Given the description of an element on the screen output the (x, y) to click on. 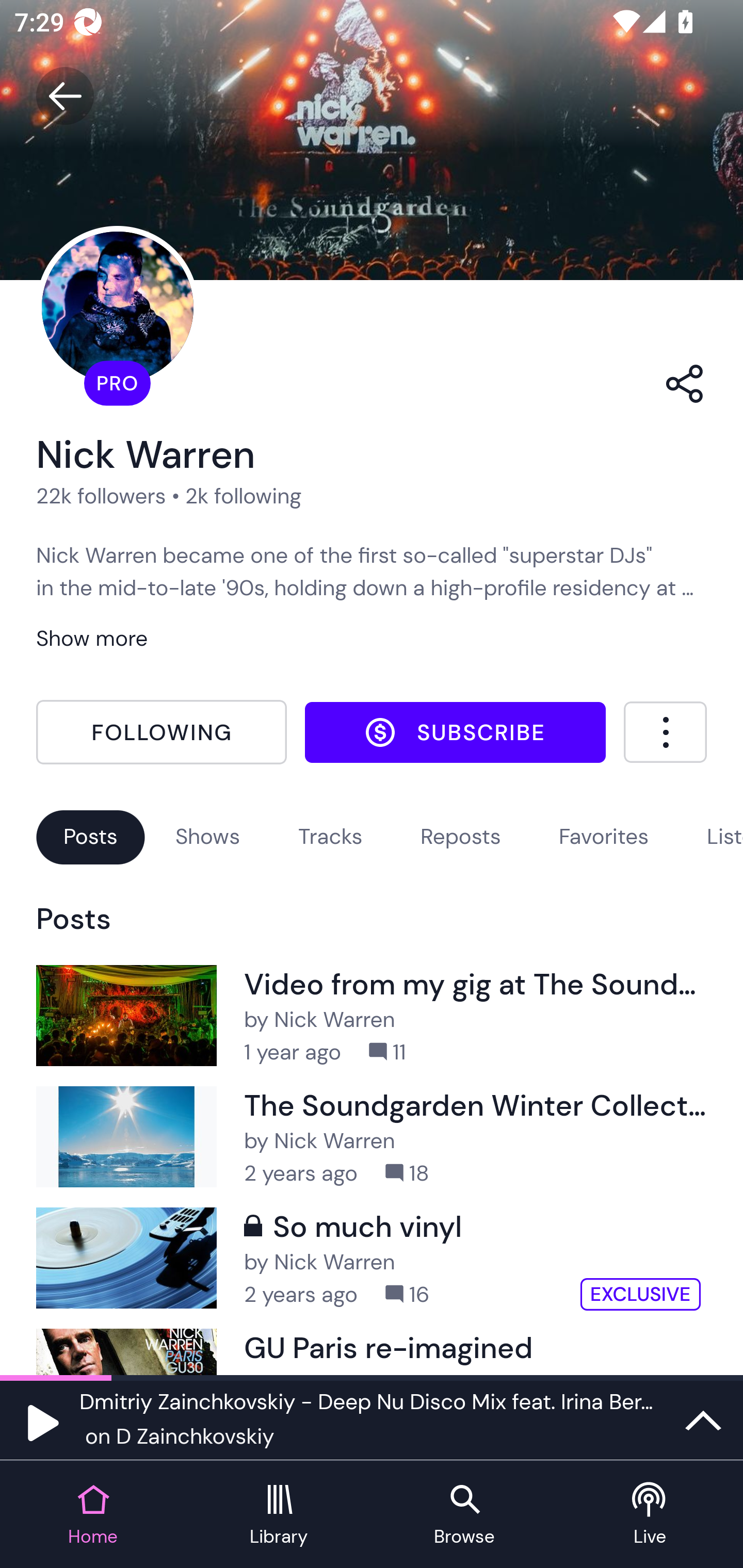
22k followers (101, 495)
2k following (243, 495)
Following FOLLOWING (161, 732)
More Menu (665, 731)
Subscribe SUBSCRIBE (454, 732)
Posts (90, 836)
Shows (207, 836)
Tracks (329, 836)
Reposts (460, 836)
Favorites (603, 836)
Listens (724, 836)
Home tab Home (92, 1515)
Library tab Library (278, 1515)
Browse tab Browse (464, 1515)
Live tab Live (650, 1515)
